Given the description of an element on the screen output the (x, y) to click on. 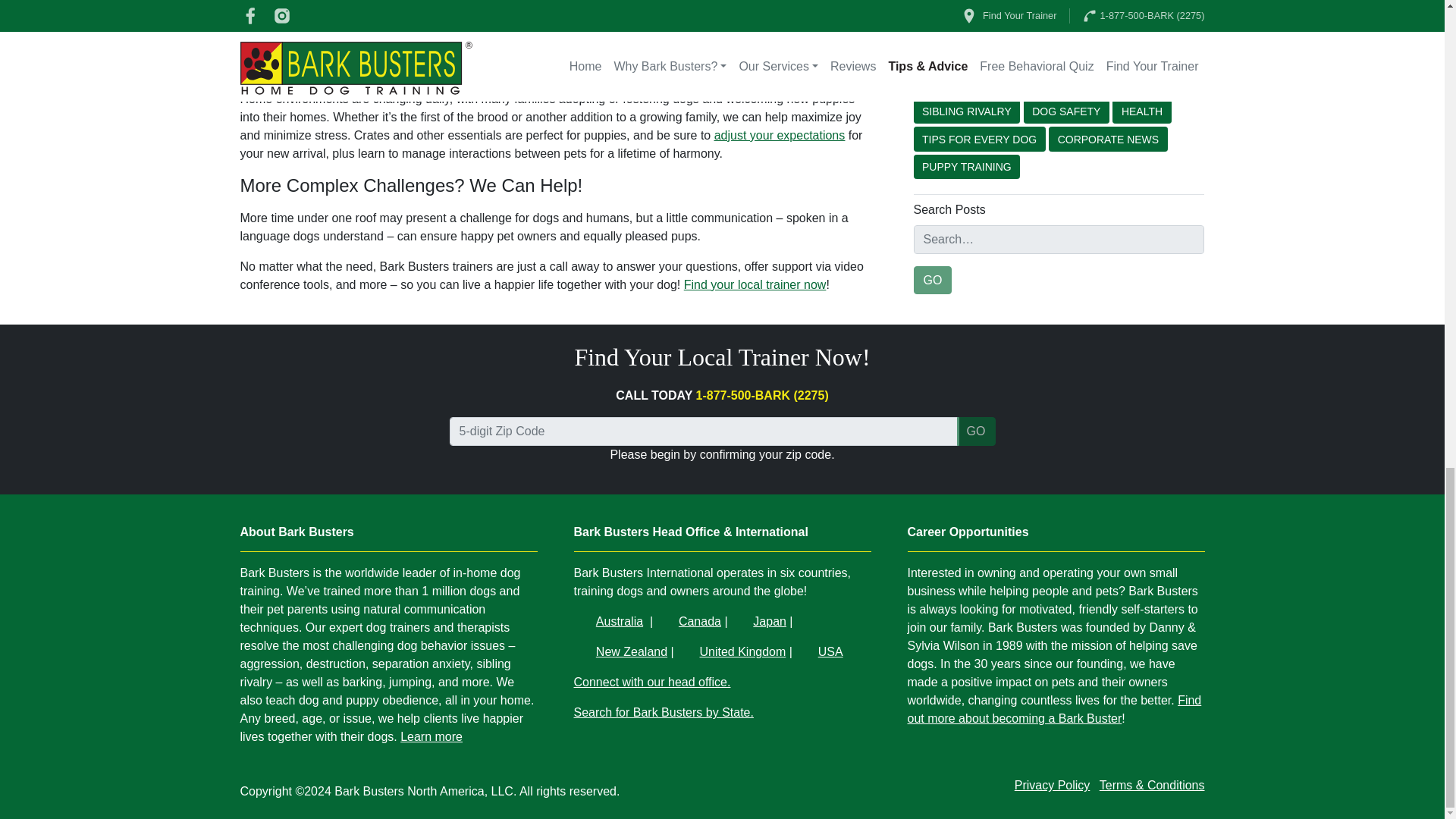
adjust your expectations (779, 134)
Learning a little now (719, 2)
Find your trainer (755, 284)
Find your local trainer now (755, 284)
How to Avoid Separation Anxiety for Your Dog (719, 2)
prepare (303, 15)
